Given the description of an element on the screen output the (x, y) to click on. 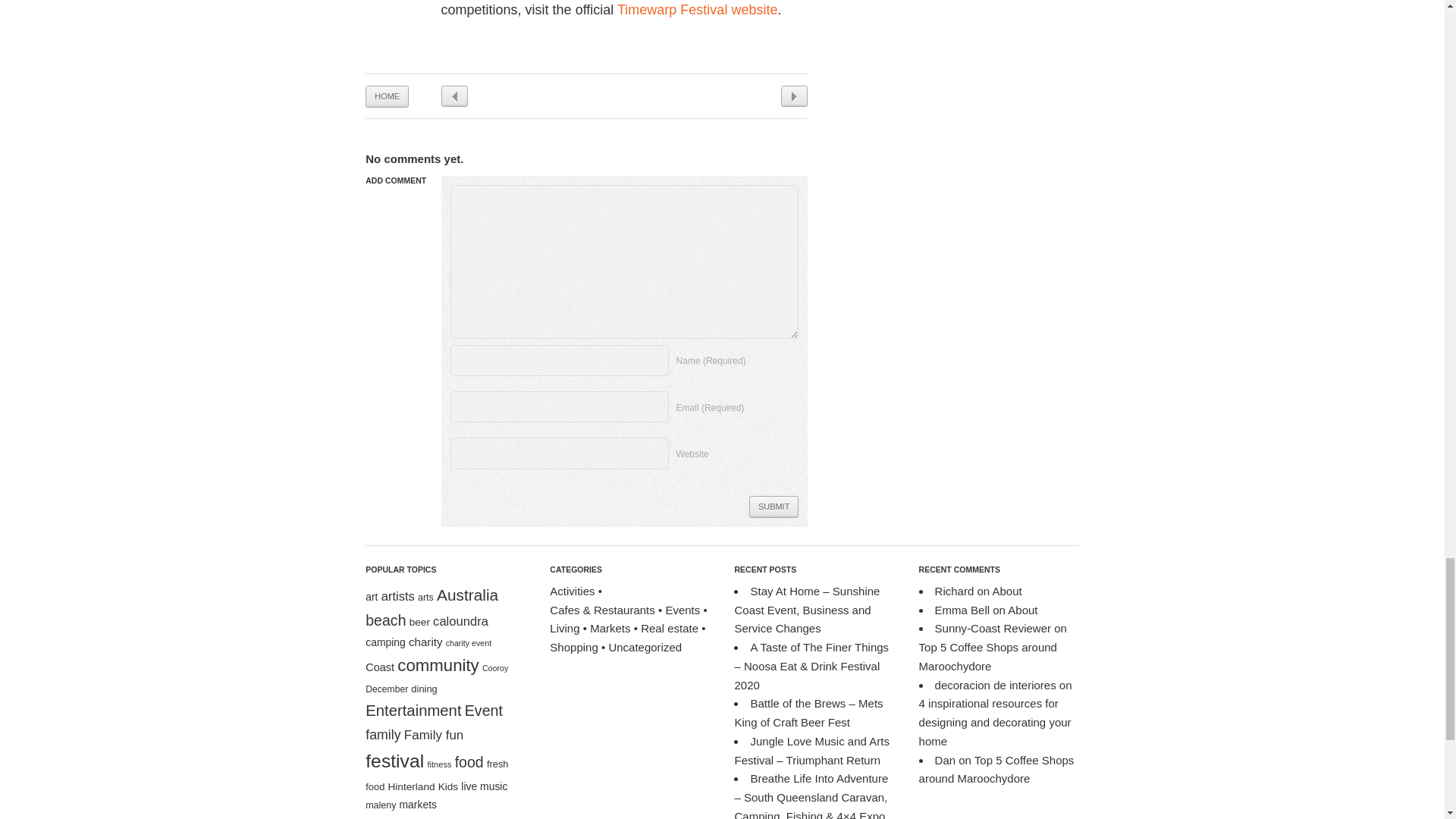
HOME (387, 96)
Submit (773, 506)
Timewarp Festival website (697, 9)
